Given the description of an element on the screen output the (x, y) to click on. 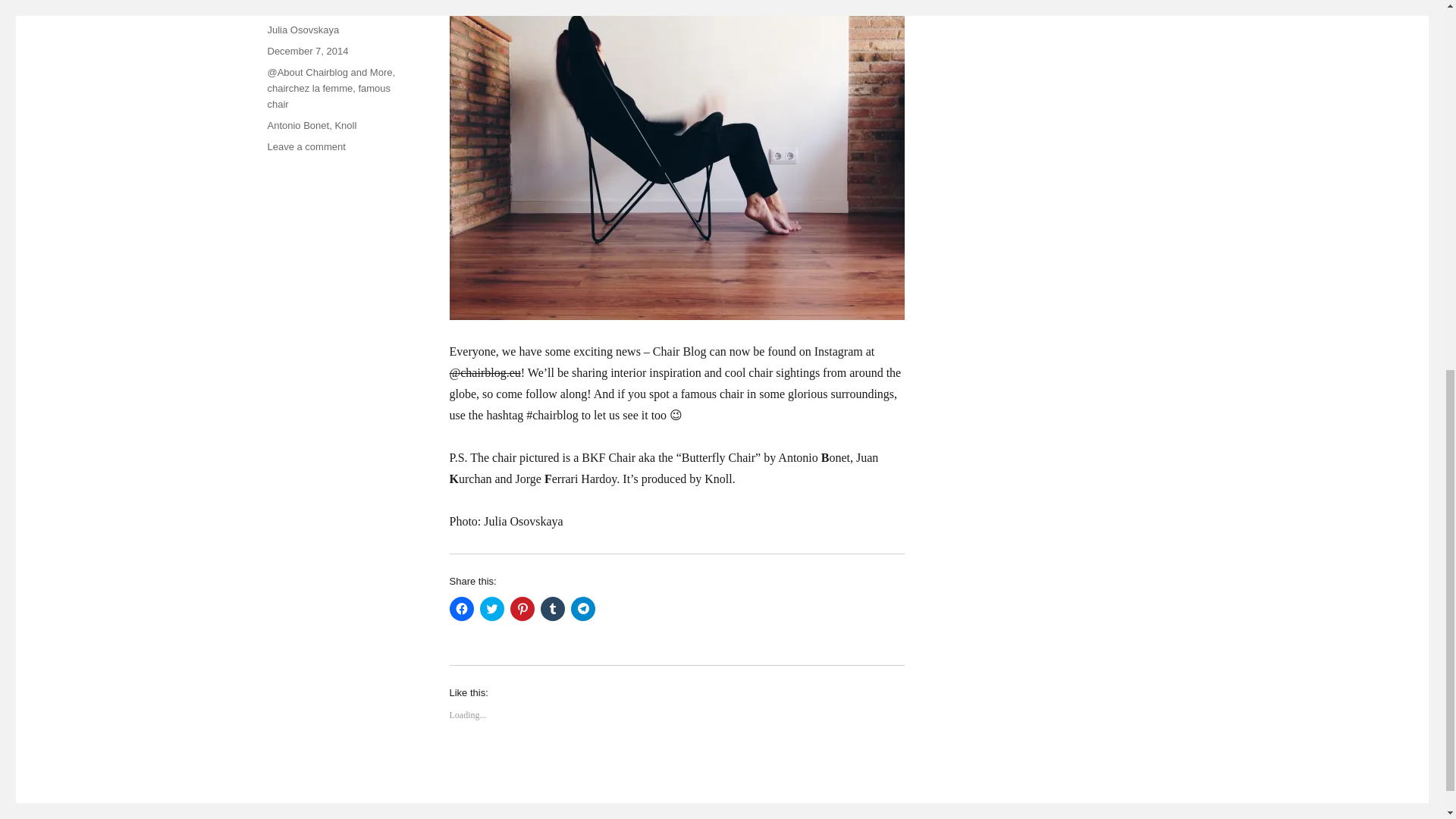
December 7, 2014 (306, 50)
famous chair (328, 95)
Antonio Bonet (297, 125)
Julia Osovskaya (302, 30)
Click to share on Telegram (582, 608)
Edited (674, 393)
Edited (662, 468)
Click to share on Pinterest (521, 608)
Click to share on Twitter (491, 608)
Click to share on Facebook (460, 608)
chairchez la femme (309, 88)
Knoll (345, 125)
Click to share on Tumblr (552, 608)
